Given the description of an element on the screen output the (x, y) to click on. 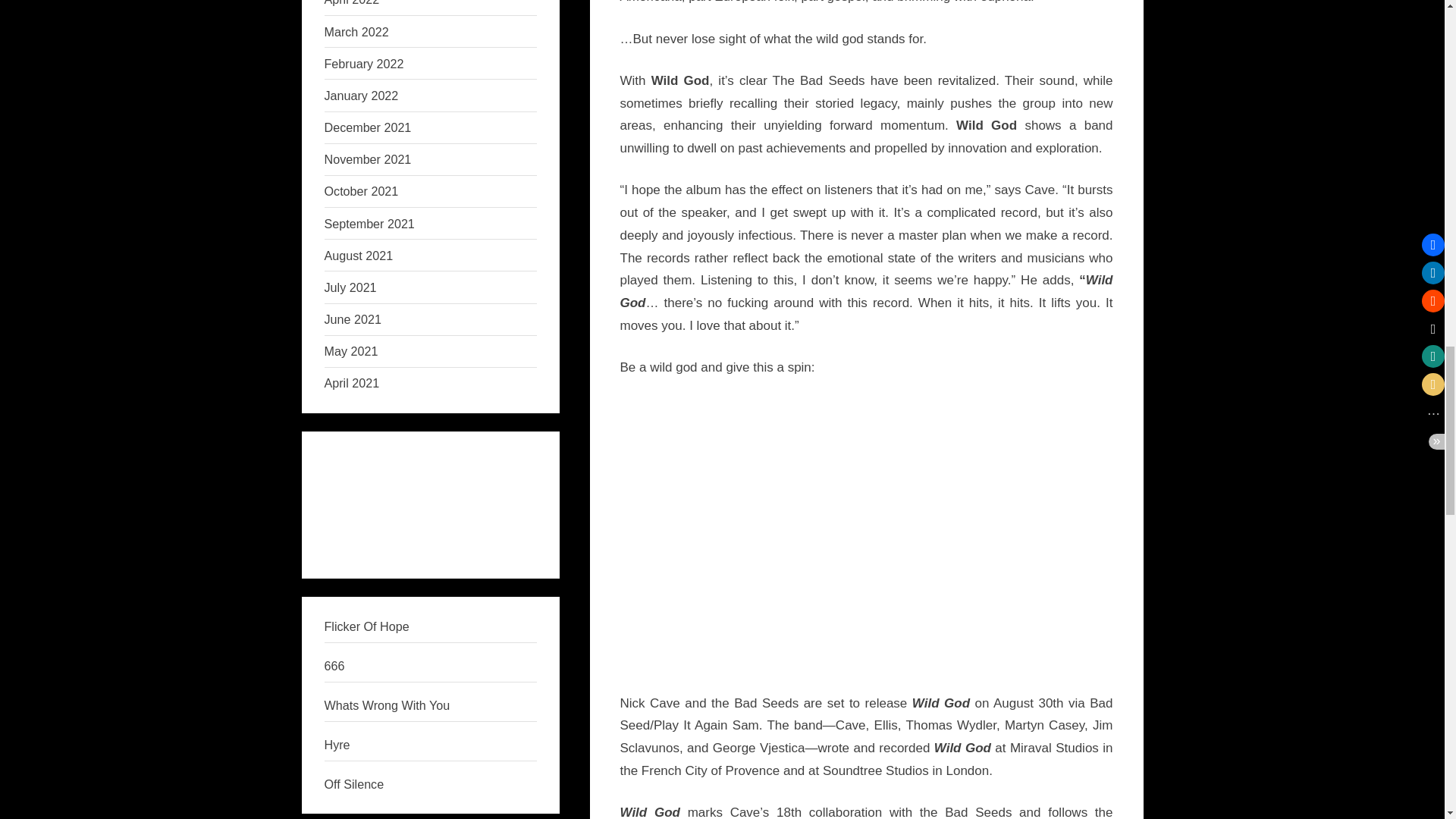
Spotify Embed: Relkneus (430, 495)
